Given the description of an element on the screen output the (x, y) to click on. 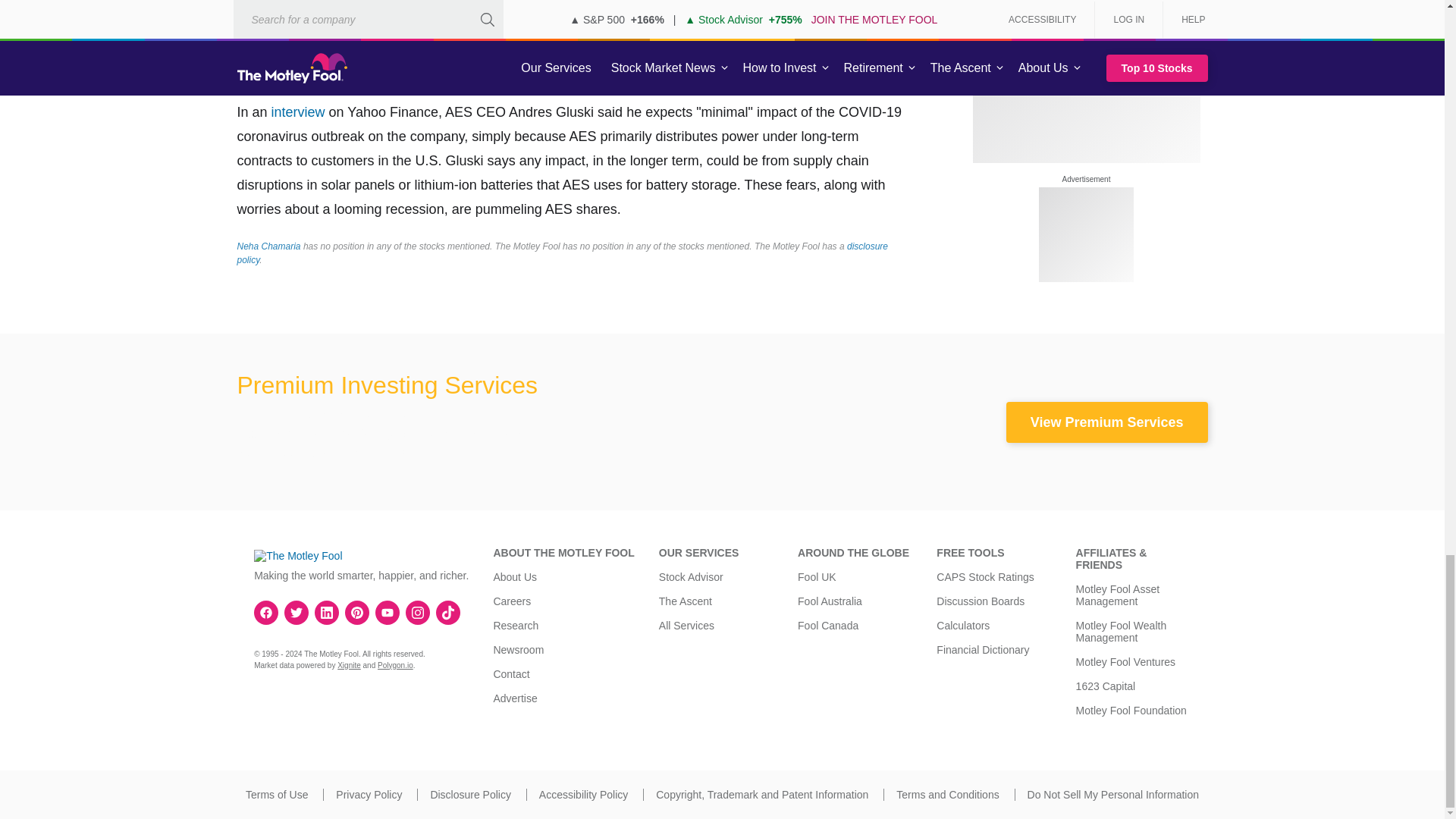
Terms and Conditions (947, 794)
Terms of Use (276, 794)
Privacy Policy (368, 794)
Accessibility Policy (582, 794)
Do Not Sell My Personal Information. (1112, 794)
Disclosure Policy (470, 794)
Copyright, Trademark and Patent Information (761, 794)
